Given the description of an element on the screen output the (x, y) to click on. 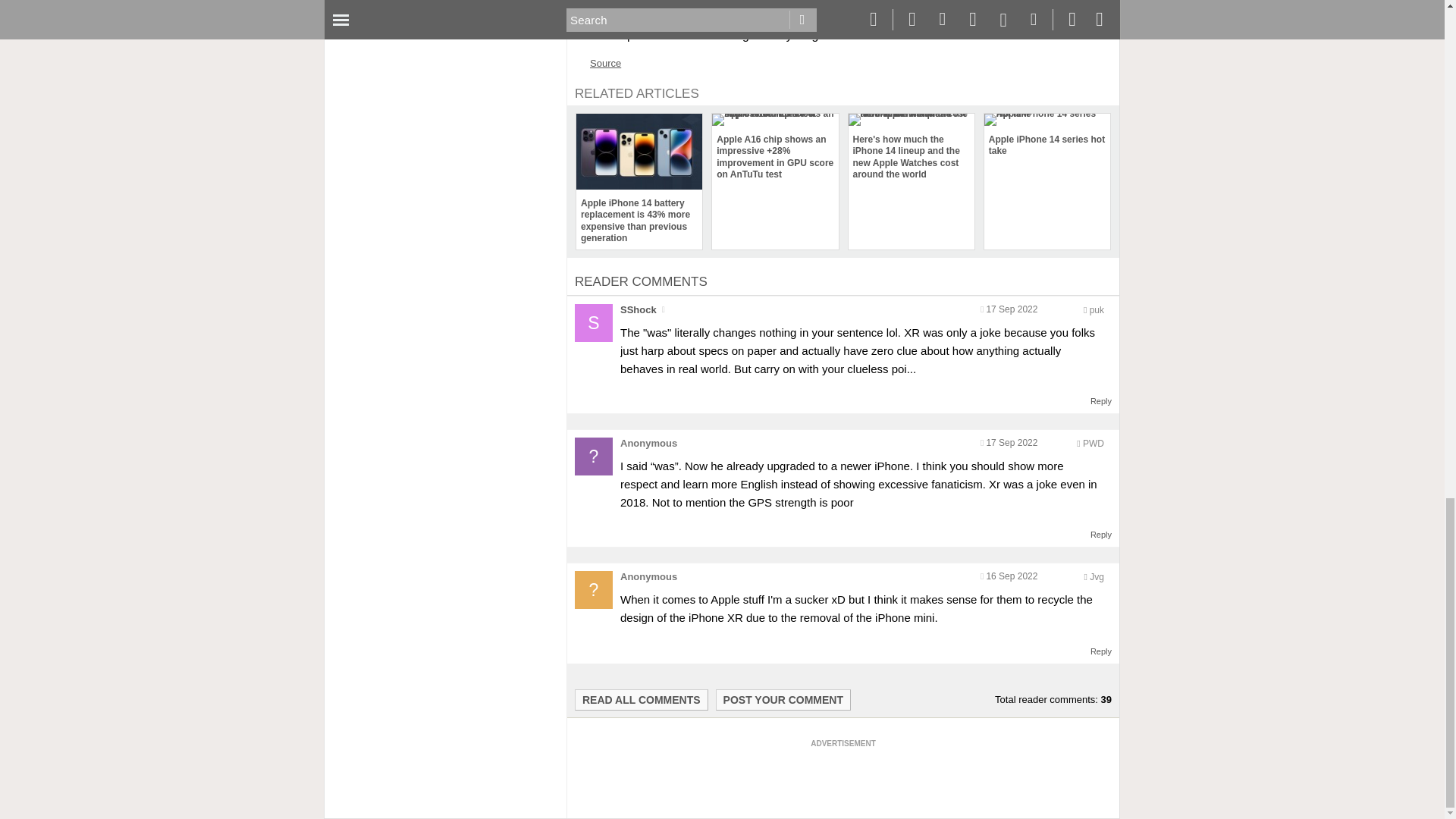
Encoded anonymized location (1096, 576)
Reply to this post (1101, 533)
Reply to this post (1101, 651)
Encoded anonymized location (1096, 309)
Source (605, 62)
Encoded anonymized location (1093, 443)
Reply to this post (1101, 400)
Apple iPhone 14 series hot take (1046, 137)
